Given the description of an element on the screen output the (x, y) to click on. 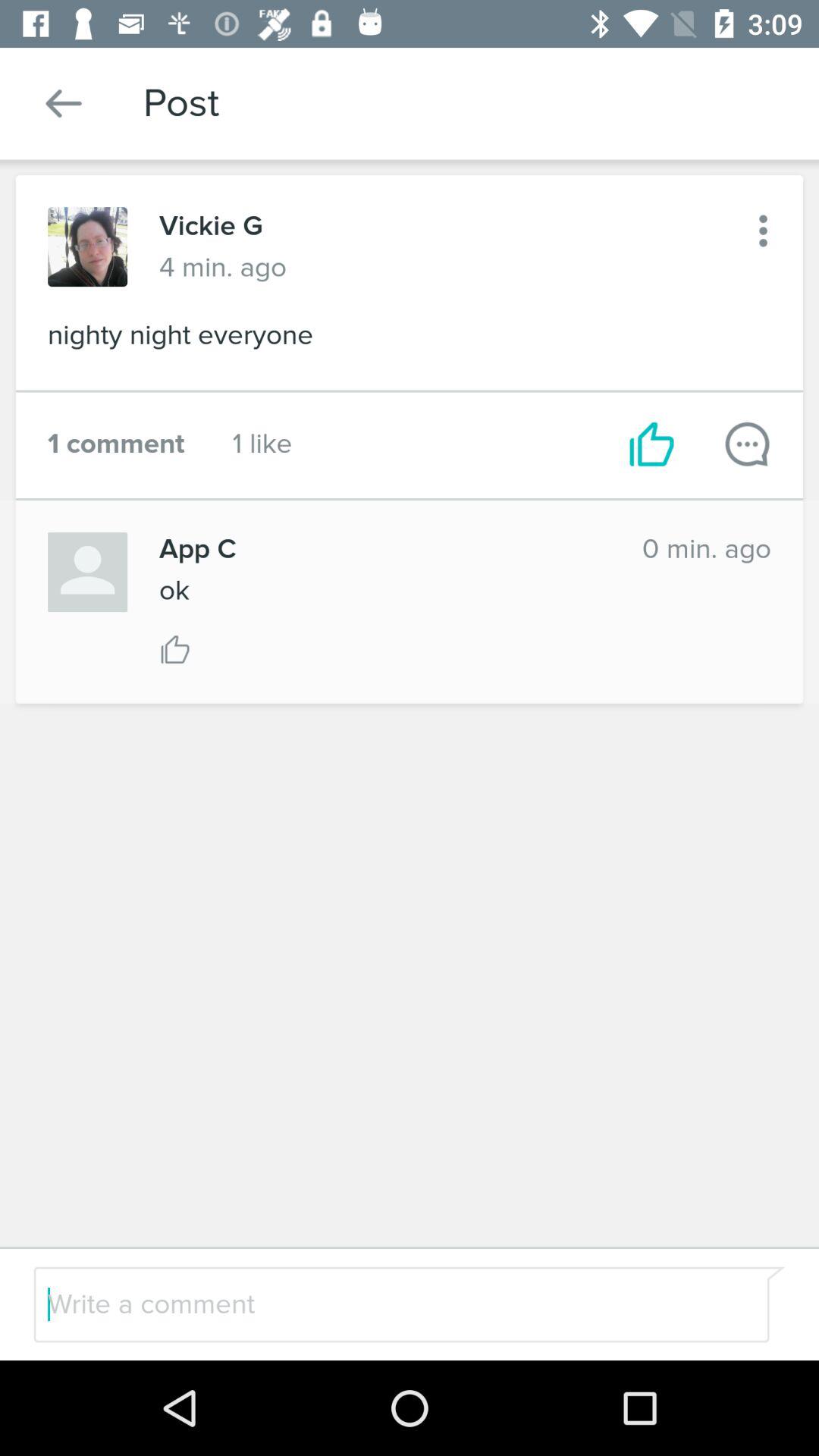
launch the icon to the left of 1 like (115, 444)
